Given the description of an element on the screen output the (x, y) to click on. 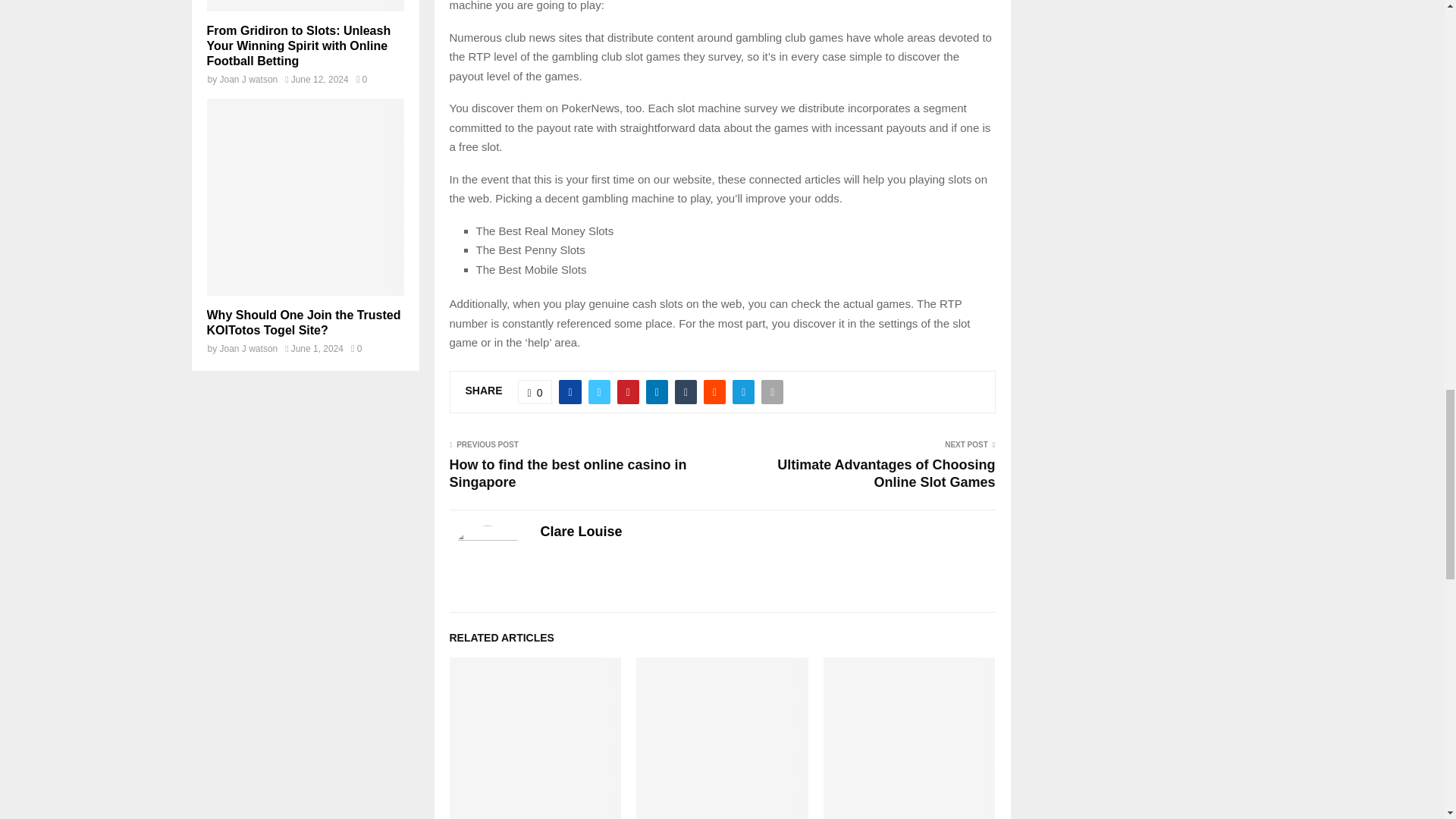
0 (535, 391)
Like (535, 391)
